Given the description of an element on the screen output the (x, y) to click on. 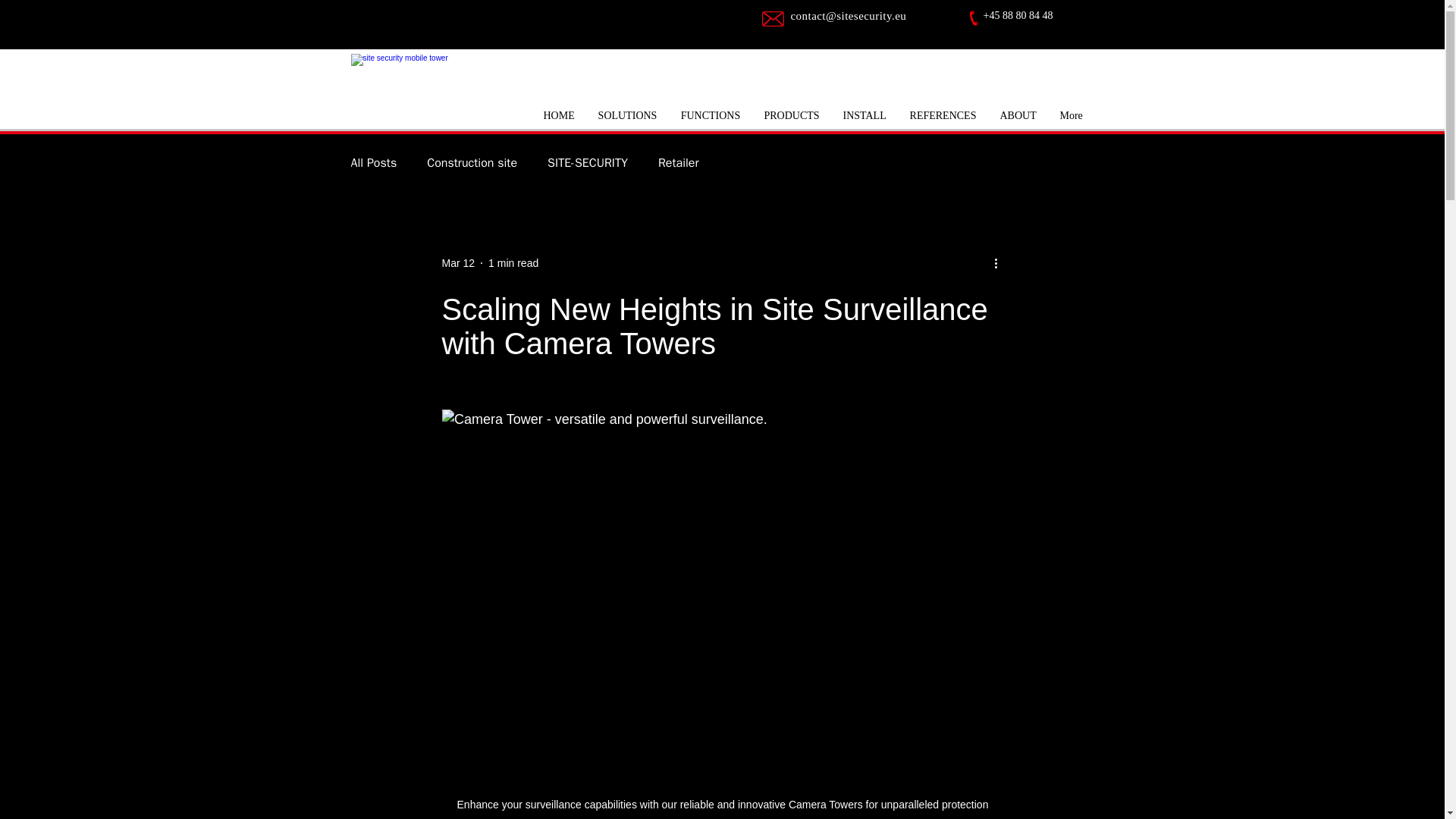
REFERENCES (943, 115)
All Posts (373, 162)
INSTALL (864, 115)
FUNCTIONS (710, 115)
Retailer (678, 162)
ABOUT (1016, 115)
SITE-SECURITY (587, 162)
Construction site (471, 162)
Mar 12 (457, 262)
SOLUTIONS (626, 115)
